Given the description of an element on the screen output the (x, y) to click on. 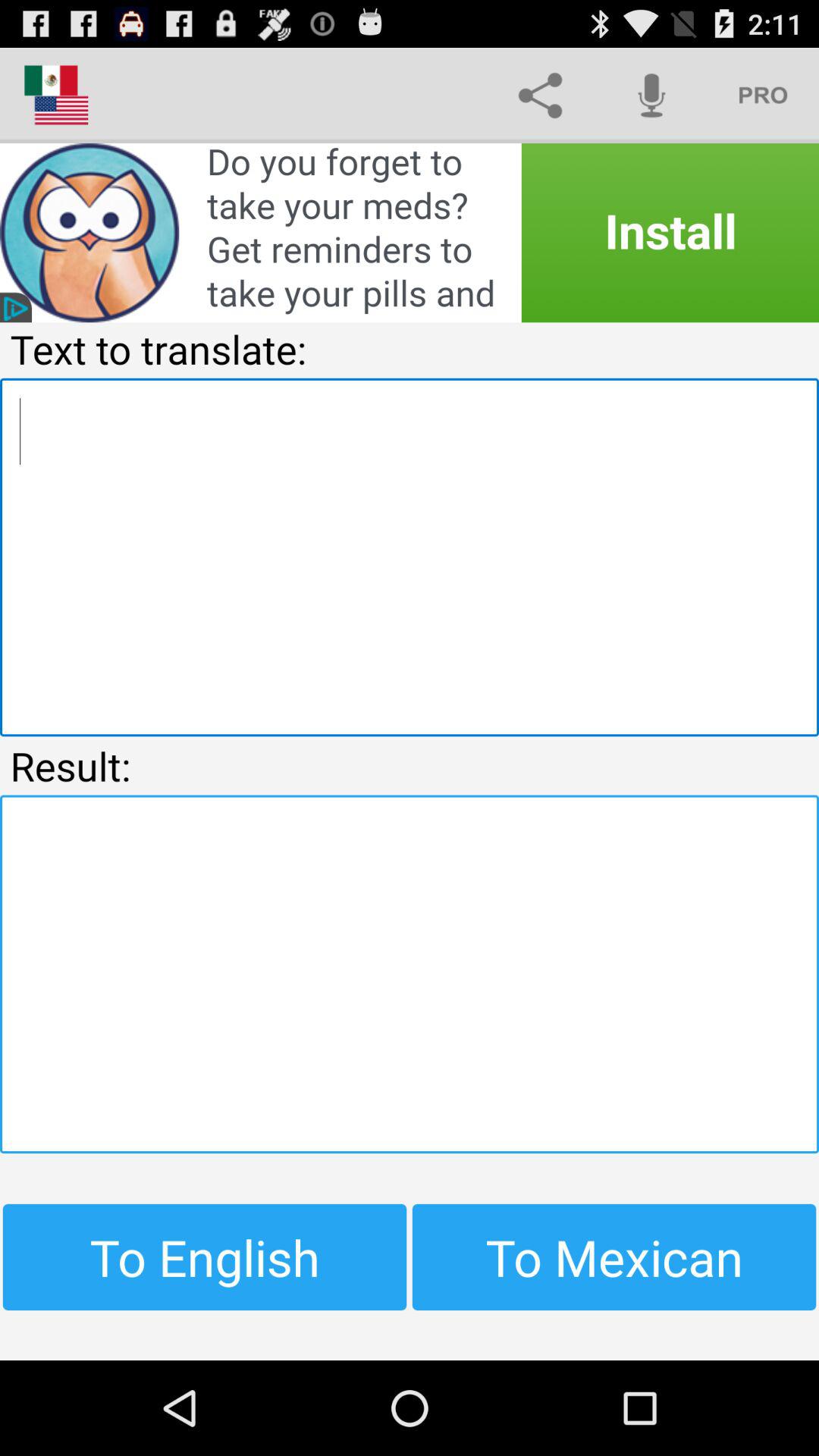
type the result (409, 974)
